Given the description of an element on the screen output the (x, y) to click on. 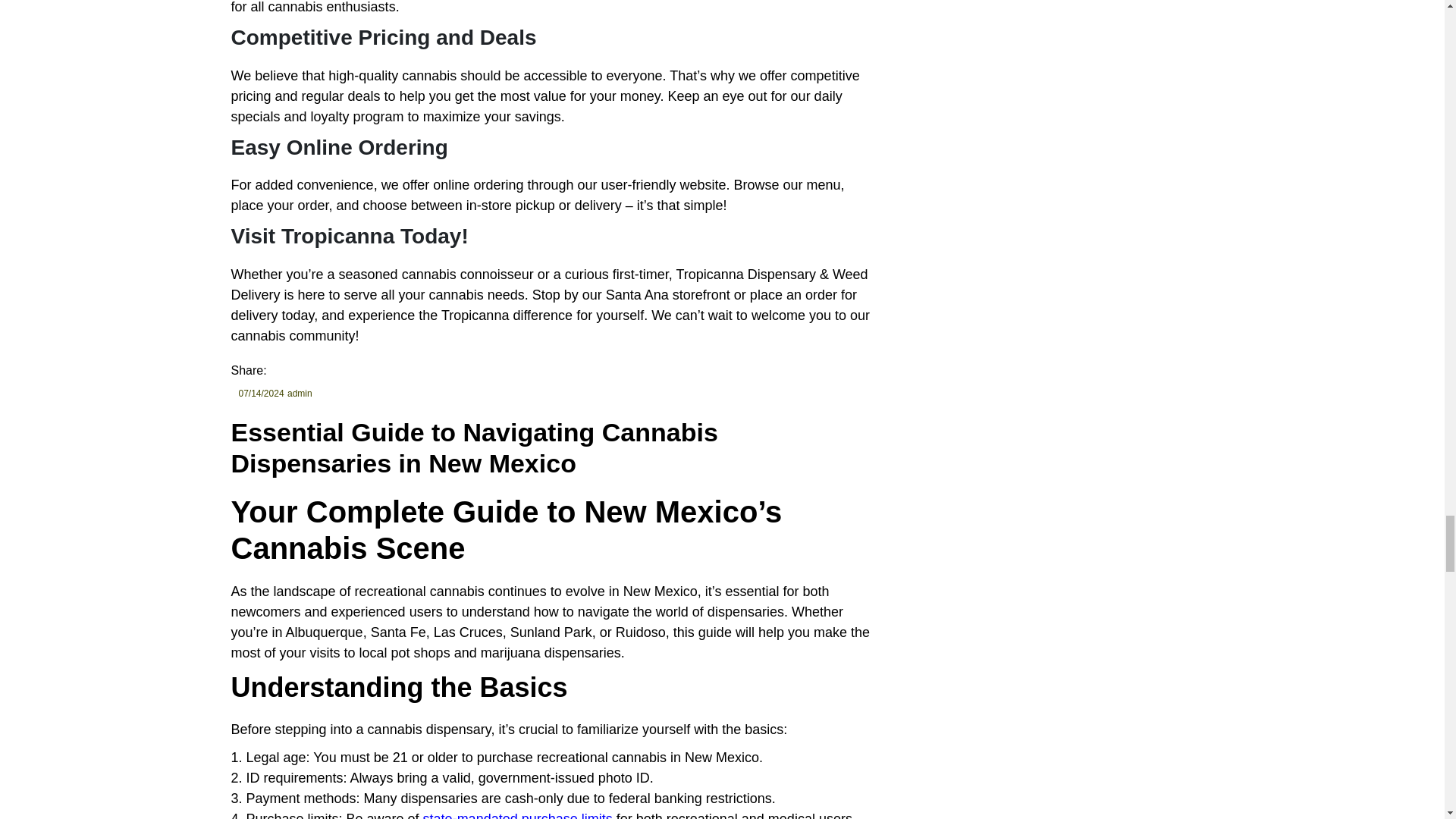
state-mandated purchase limits (517, 815)
